Given the description of an element on the screen output the (x, y) to click on. 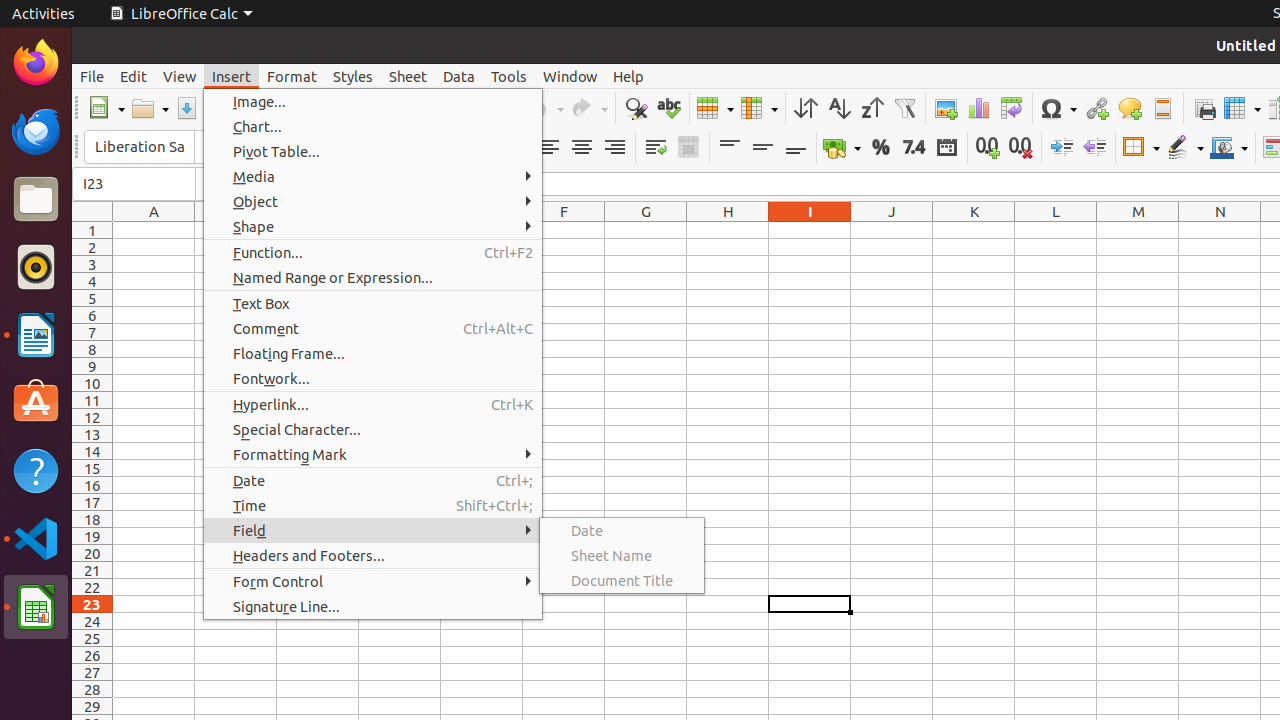
Function... Element type: menu-item (373, 252)
Center Vertically Element type: push-button (762, 147)
Sheet Element type: menu (408, 76)
Floating Frame... Element type: menu-item (373, 353)
Delete Decimal Place Element type: push-button (1020, 147)
